Given the description of an element on the screen output the (x, y) to click on. 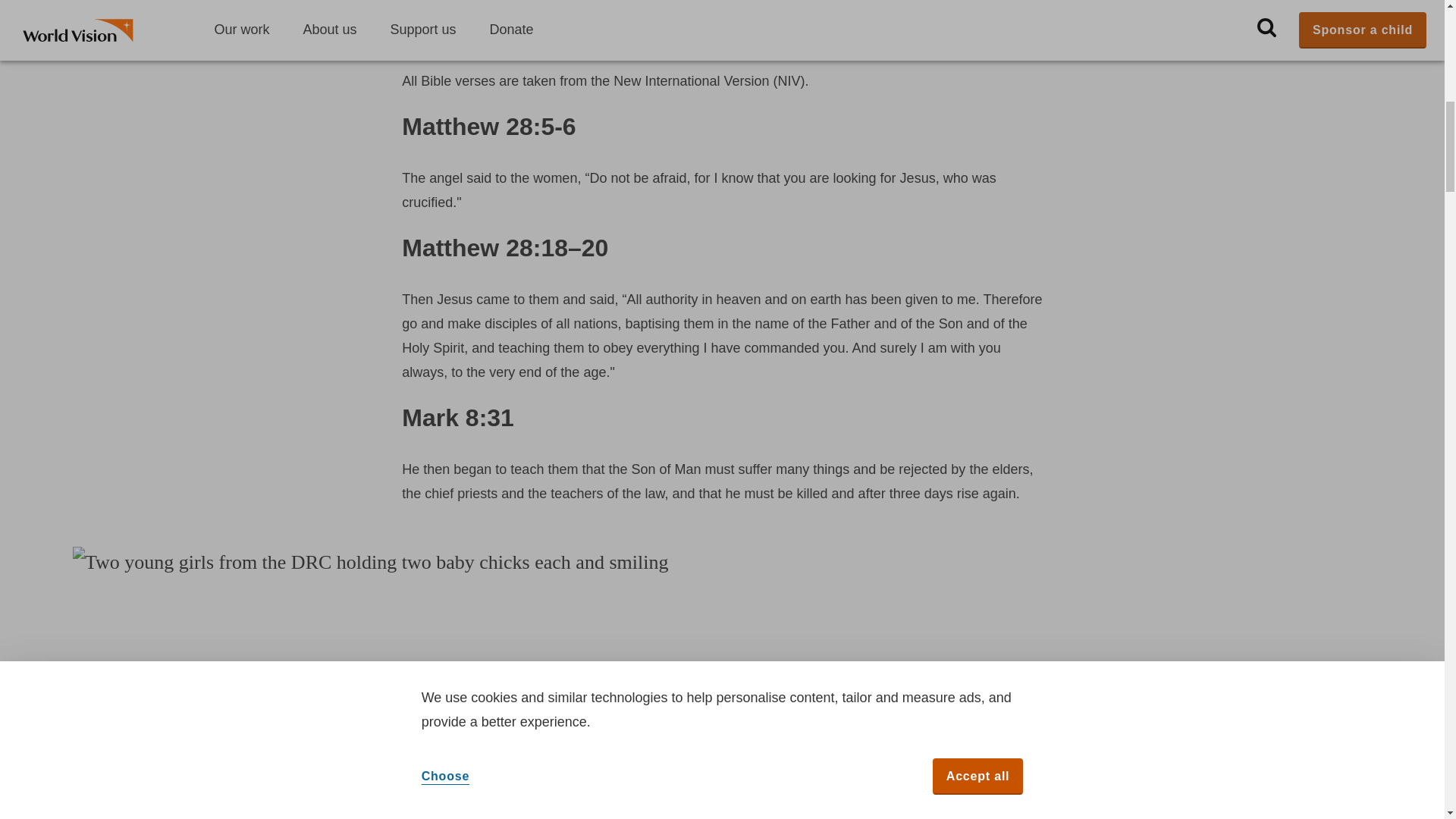
charity gifts (832, 38)
